Given the description of an element on the screen output the (x, y) to click on. 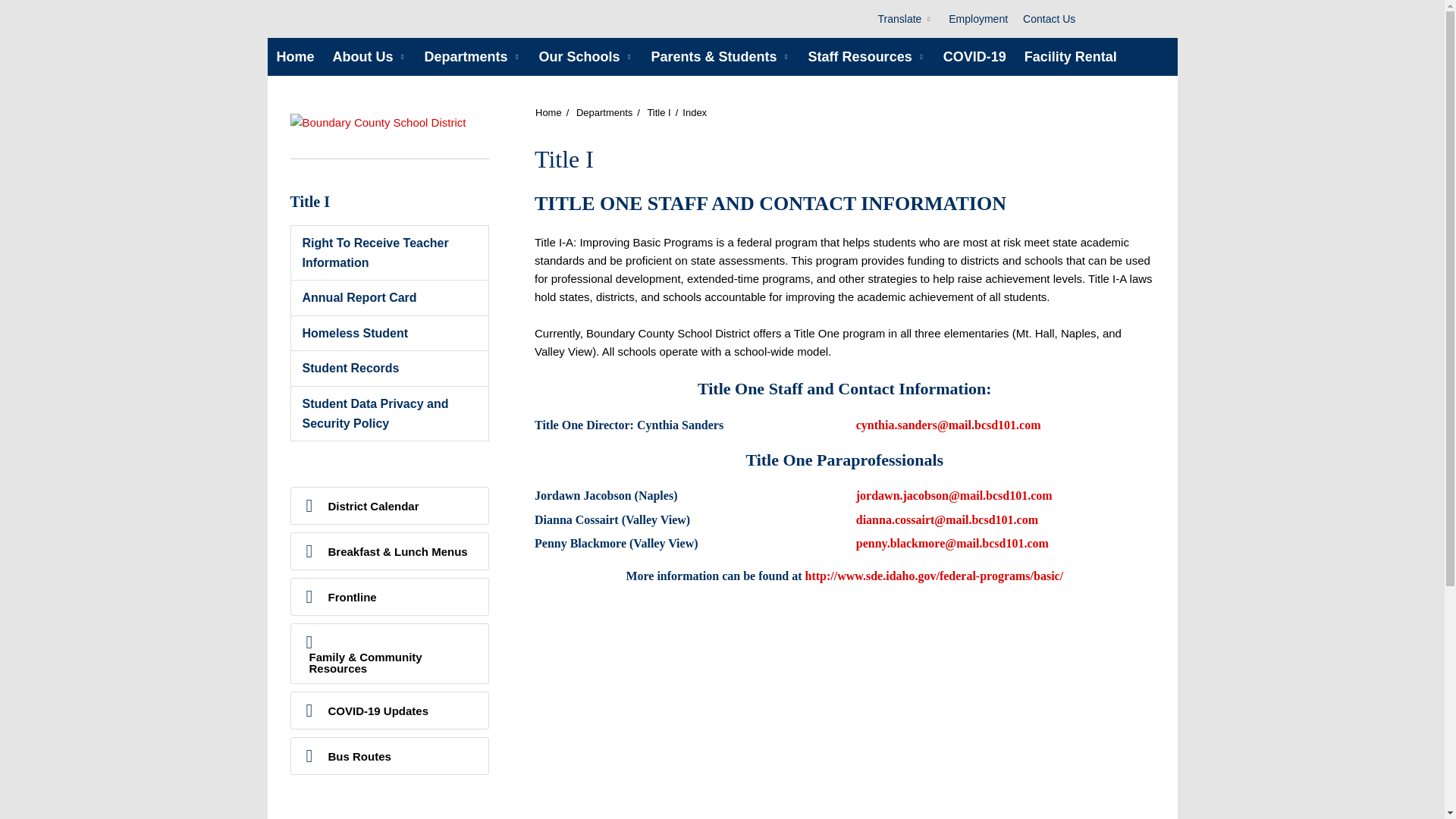
Our Schools (585, 56)
Contact Us (1048, 18)
Home (294, 56)
Employment (977, 18)
Departments (471, 56)
About Us (368, 56)
